Given the description of an element on the screen output the (x, y) to click on. 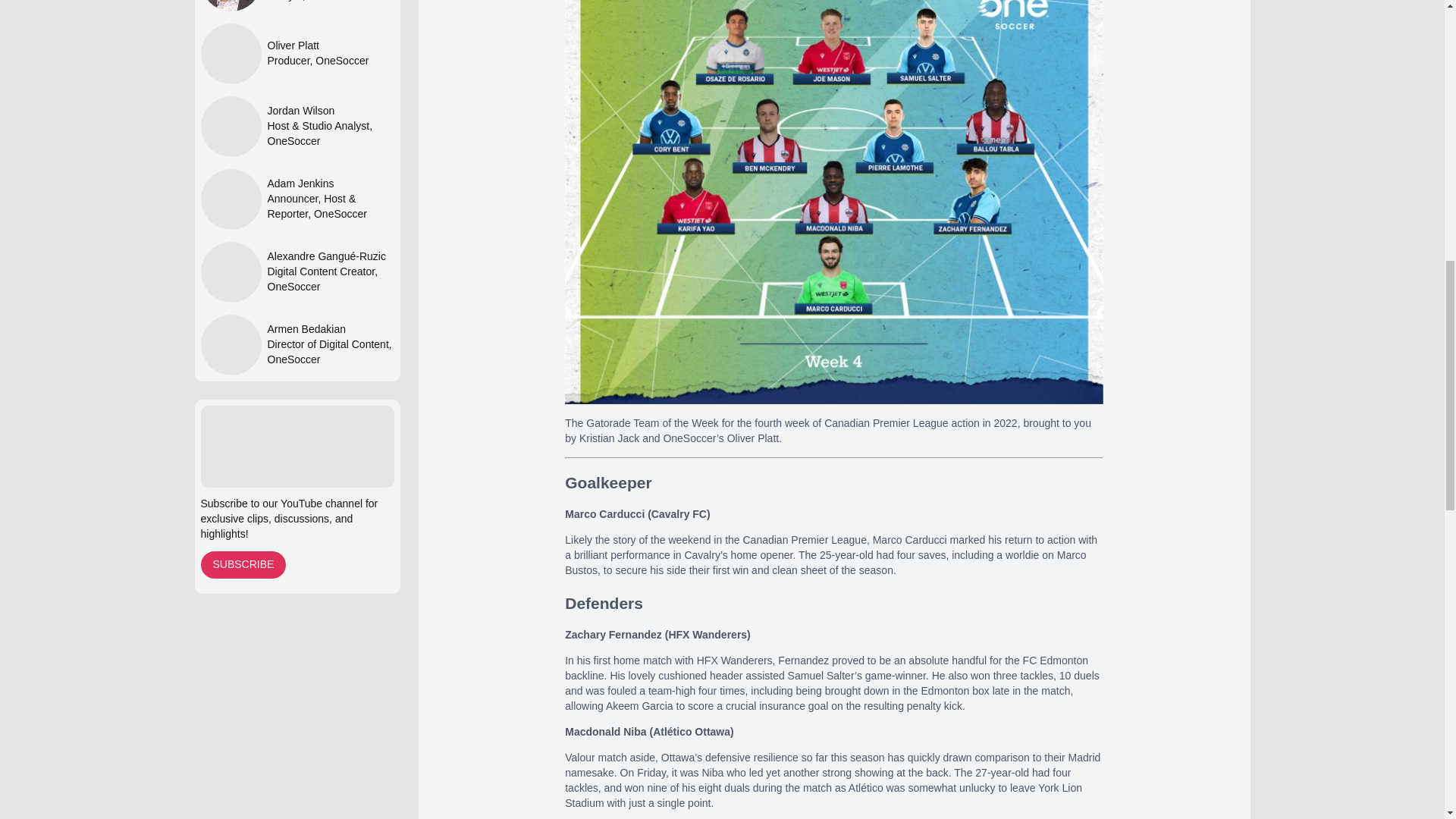
Jordan Wilson (329, 111)
SUBSCRIBE (242, 564)
Armen Bedakian (329, 329)
Gareth Wheeler (230, 5)
Oliver Platt (317, 46)
Adam Jenkins (329, 183)
